Given the description of an element on the screen output the (x, y) to click on. 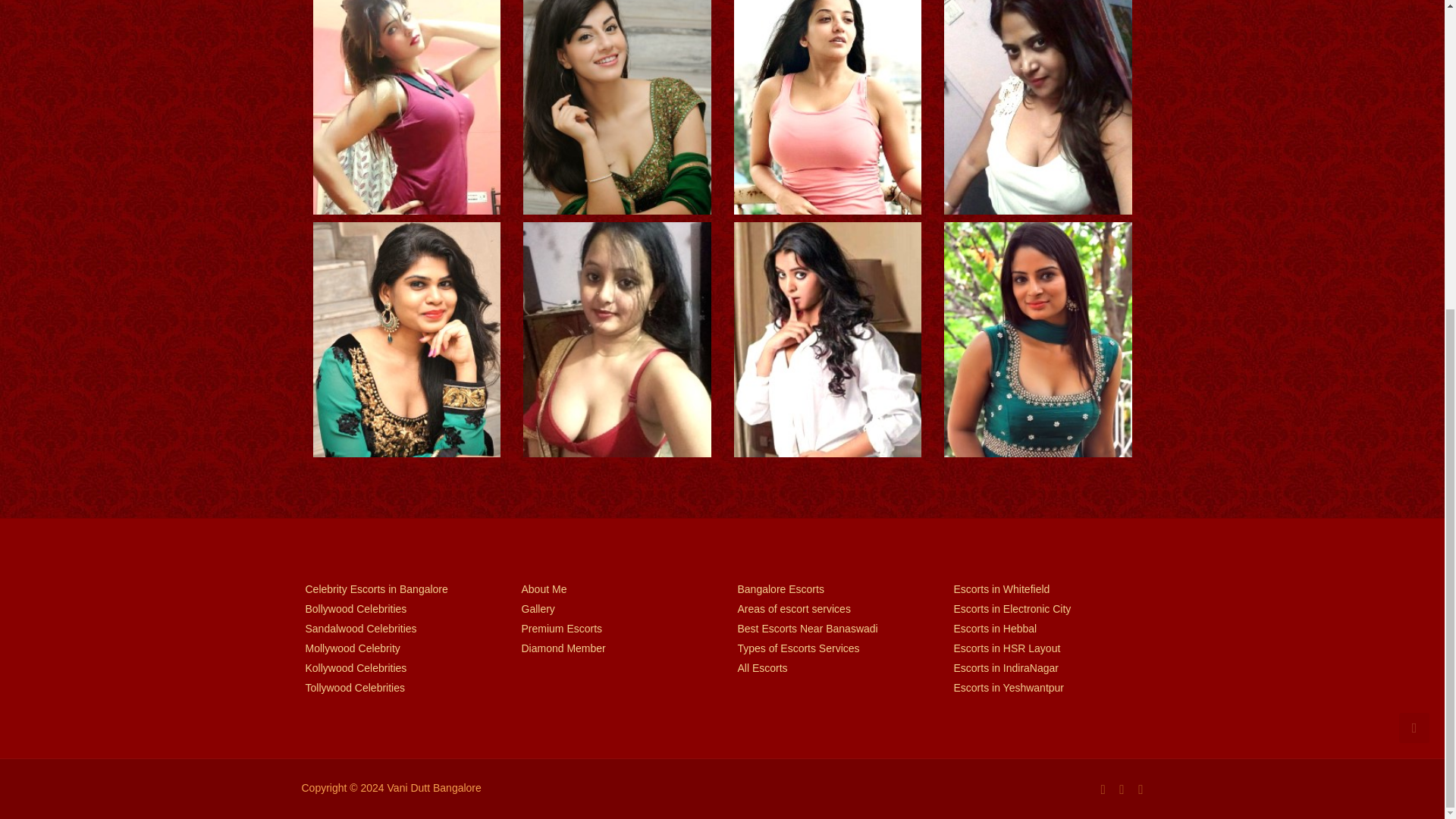
Areas of escort services (829, 608)
Vani Dutt Bangalore (434, 787)
Diamond Member (614, 648)
Tollywood Celebrities (397, 687)
Kollywood Celebrities (397, 667)
Best Escorts Near Banaswadi (829, 628)
Escorts in Yeshwantpur (1046, 687)
Mollywood Celebrity (397, 648)
Escorts in Hebbal (1046, 628)
About Me (614, 589)
